Given the description of an element on the screen output the (x, y) to click on. 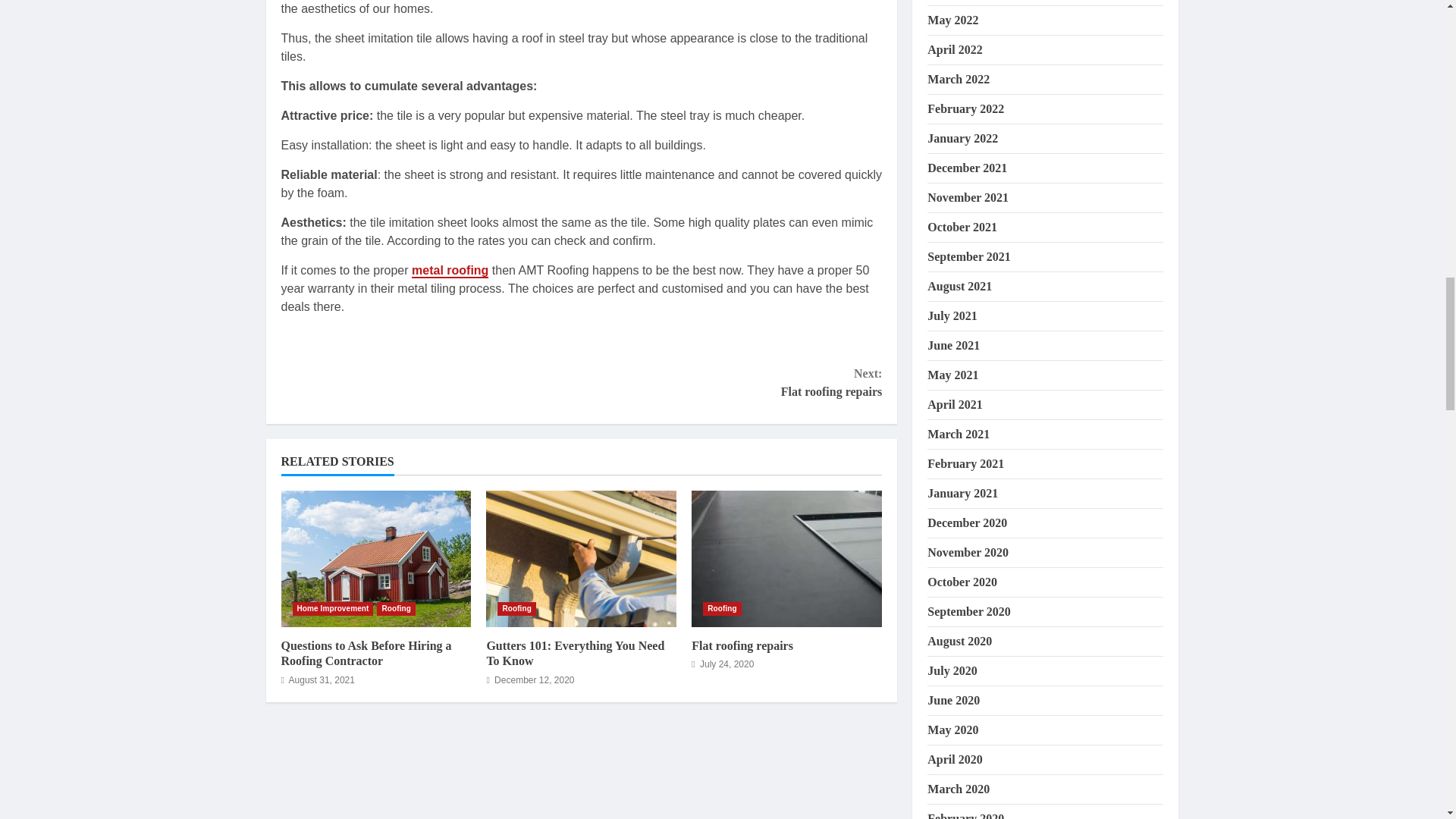
Gutters 101: Everything You Need To Know (581, 558)
metal roofing (449, 270)
Roofing (516, 608)
Roofing (395, 608)
Gutters 101: Everything You Need To Know (574, 653)
Flat roofing repairs (786, 558)
Roofing (722, 608)
Home Improvement (731, 382)
Questions to Ask Before Hiring a Roofing Contractor (333, 608)
Flat roofing repairs (366, 653)
Questions to Ask Before Hiring a Roofing Contractor (742, 645)
